Given the description of an element on the screen output the (x, y) to click on. 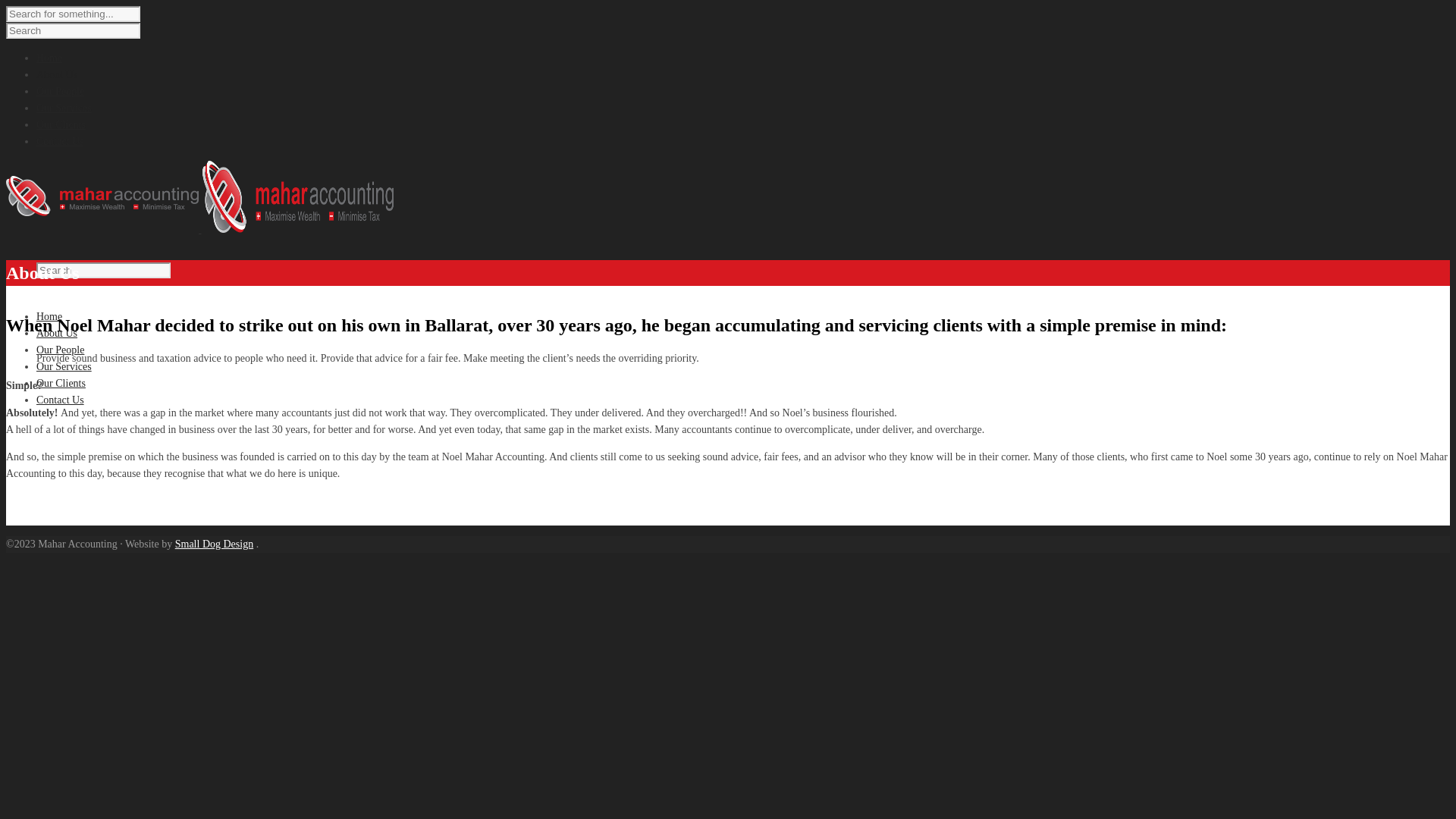
Our People Element type: text (60, 349)
Small Dog Design Element type: text (214, 543)
Our Services Element type: text (63, 366)
Our Clients Element type: text (60, 383)
Our People Element type: text (60, 91)
About Us Element type: text (56, 332)
Our Services Element type: text (63, 107)
Contact Us Element type: text (60, 399)
About Us Element type: text (56, 74)
Contact Us Element type: text (60, 141)
Our Clients Element type: text (60, 124)
Home Element type: text (49, 57)
Home Element type: text (49, 316)
